Given the description of an element on the screen output the (x, y) to click on. 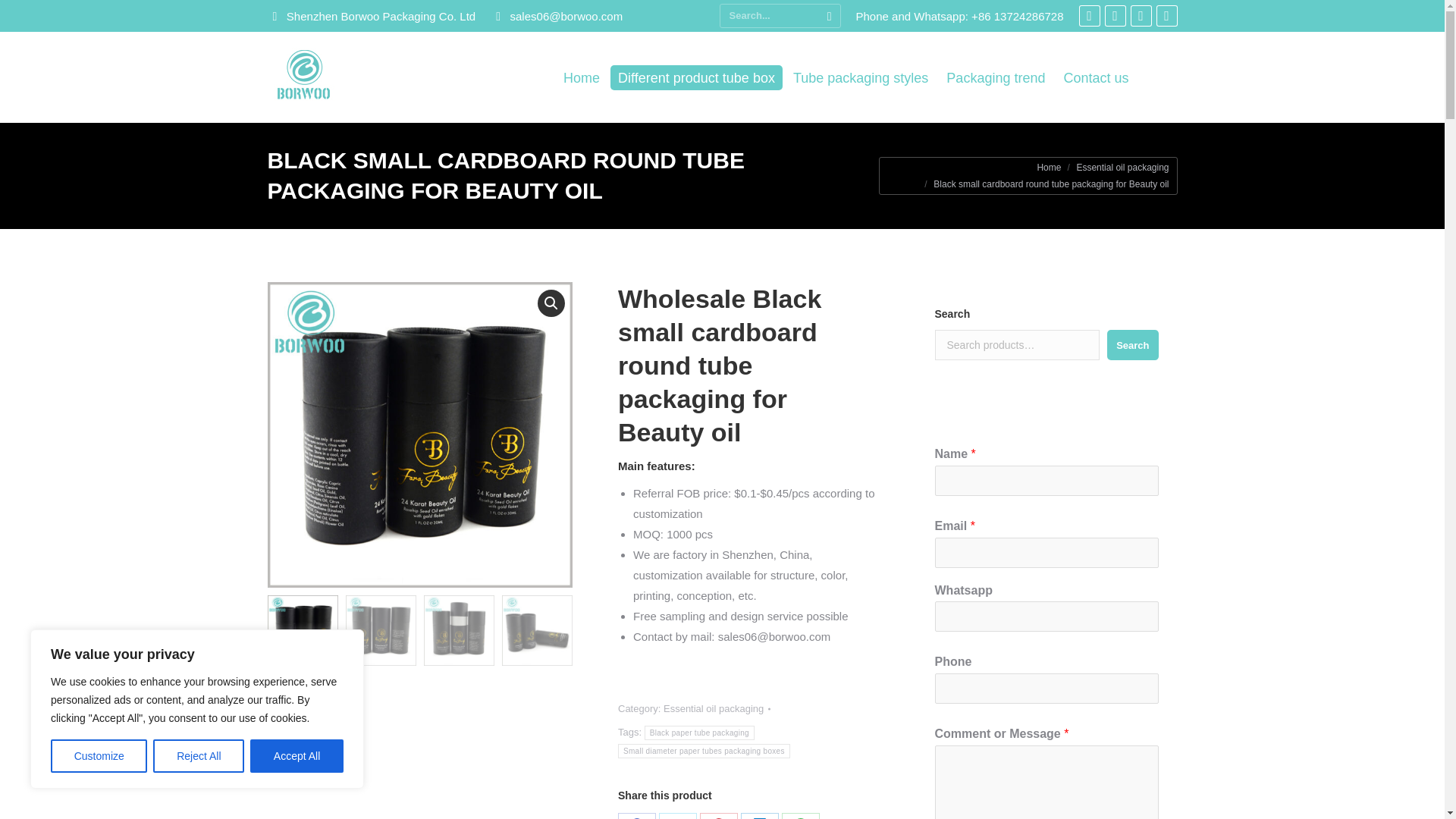
Pinterest page opens in new window (1114, 15)
Home (1048, 167)
Search form (780, 15)
Instagram page opens in new window (1140, 15)
Go! (18, 13)
Facebook page opens in new window (1088, 15)
Different product tube box (696, 77)
YouTube page opens in new window (1166, 15)
Pinterest page opens in new window (1114, 15)
Customize (98, 756)
Facebook page opens in new window (1088, 15)
Instagram page opens in new window (1140, 15)
Home (581, 77)
Reject All (198, 756)
Shenzhen Borwoo Packaging Co. Ltd (371, 15)
